Given the description of an element on the screen output the (x, y) to click on. 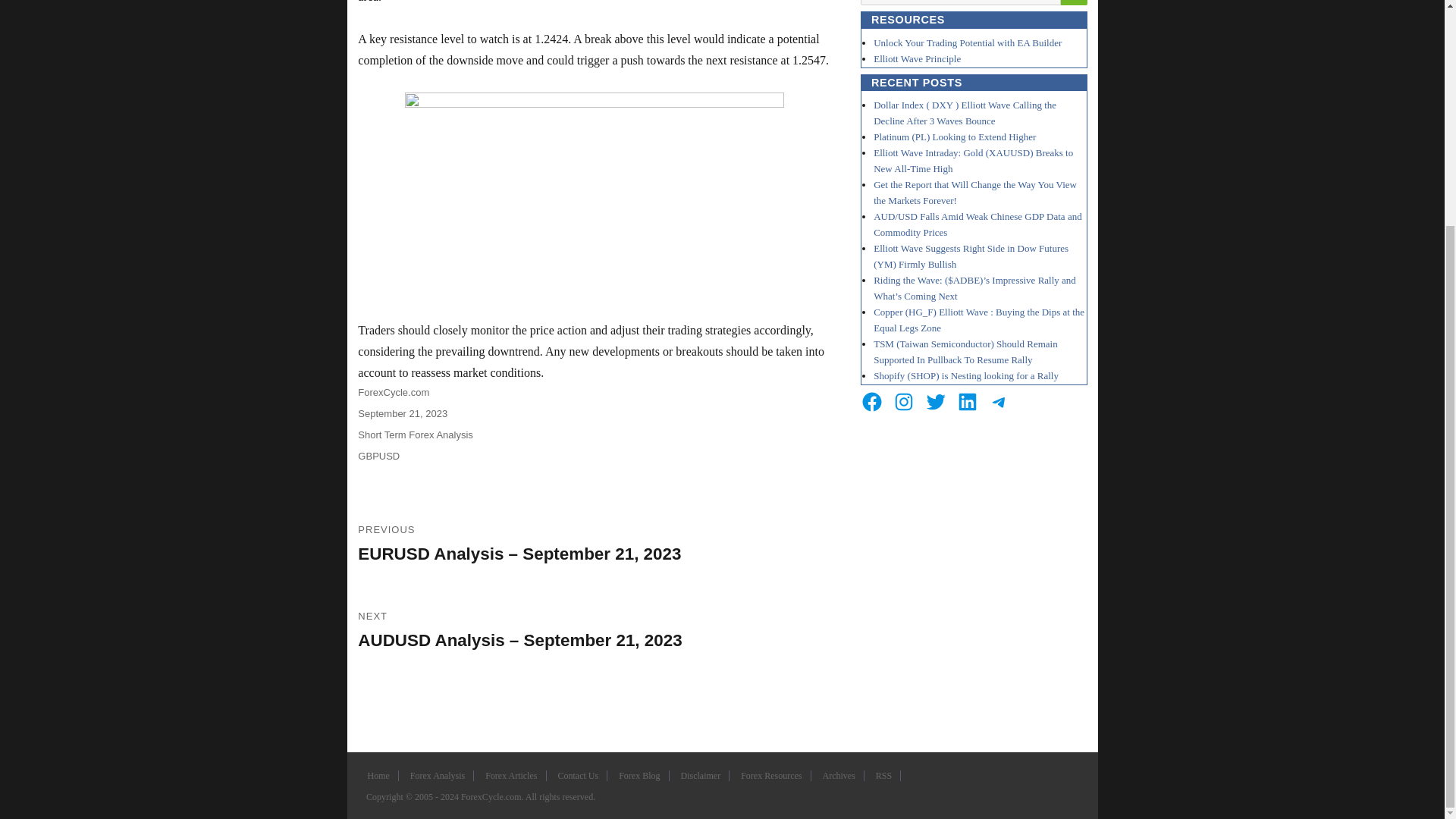
ForexCycle.com (393, 392)
September 21, 2023 (402, 413)
